Given the description of an element on the screen output the (x, y) to click on. 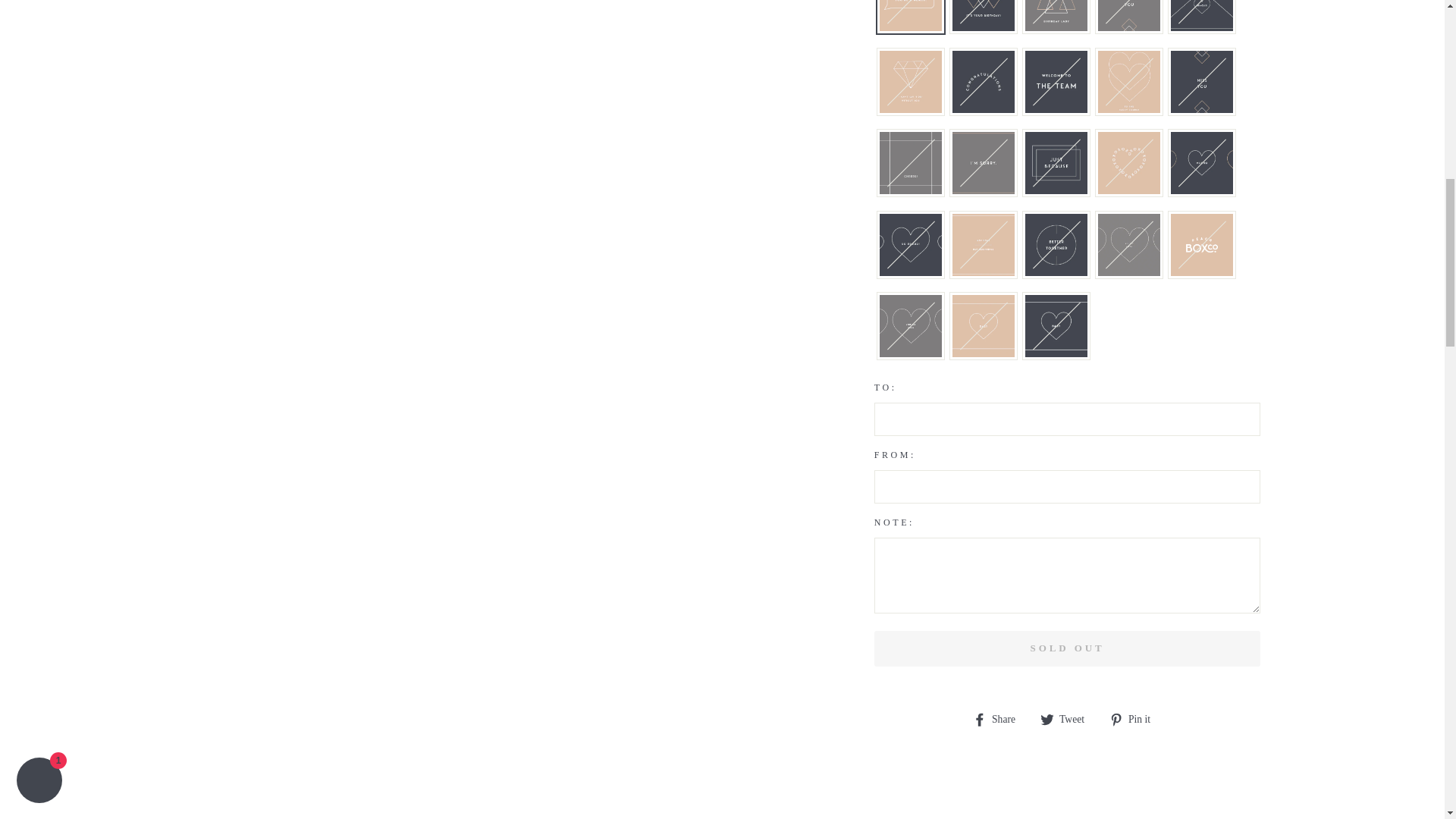
Tweet on Twitter (1068, 718)
Pin on Pinterest (1135, 718)
Share on Facebook (999, 718)
